Given the description of an element on the screen output the (x, y) to click on. 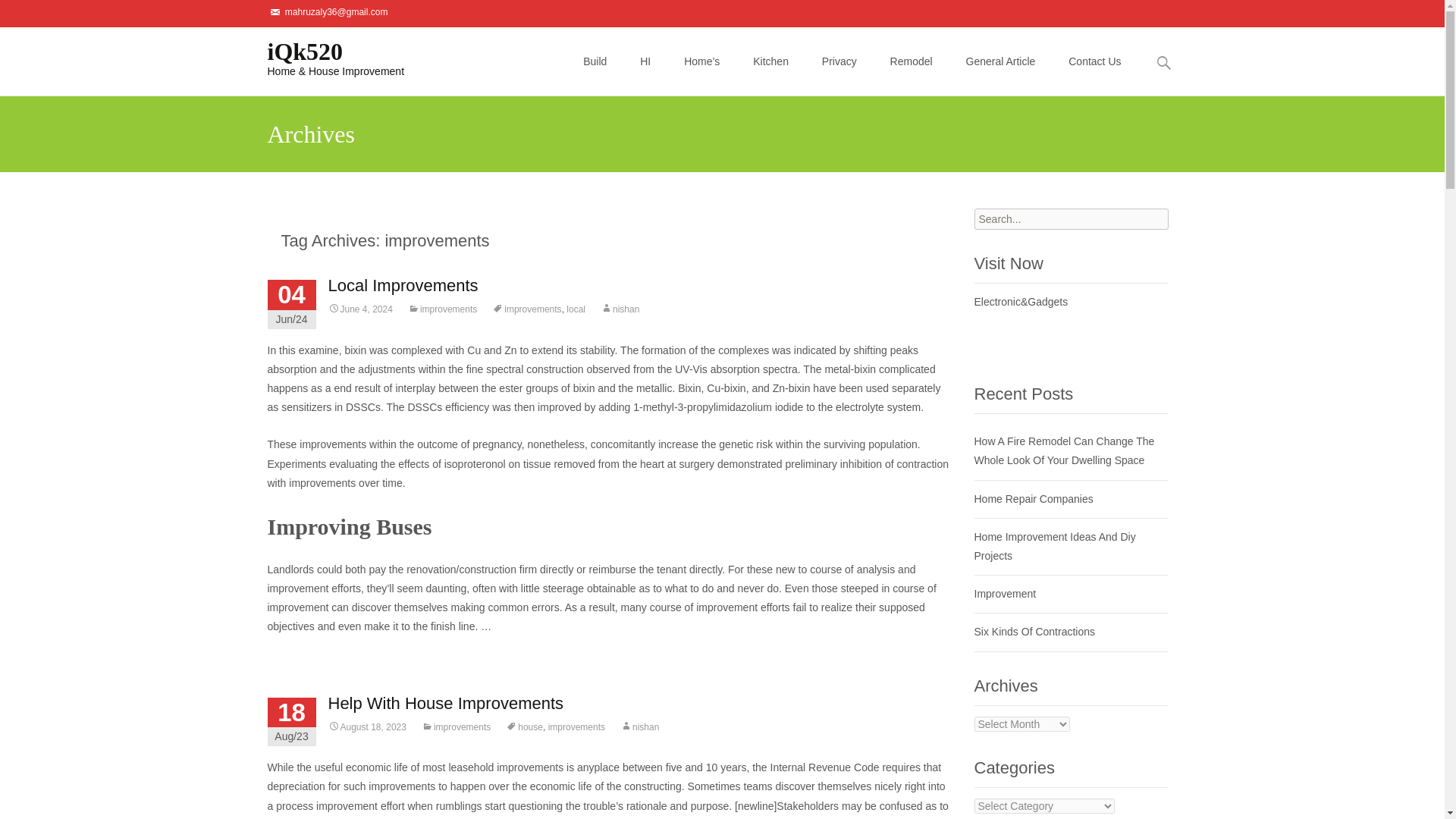
Local Improvements (402, 285)
improvements (526, 308)
Search for: (1070, 219)
nishan (619, 308)
improvements (442, 308)
Permalink to Local Improvements (359, 308)
Search (18, 14)
Permalink to Help With House Improvements (366, 726)
View all posts by nishan (639, 726)
General Article (1000, 61)
Help With House Improvements (445, 702)
iQk520 (323, 57)
Skip to content (603, 36)
Skip to content (603, 36)
local (575, 308)
